Given the description of an element on the screen output the (x, y) to click on. 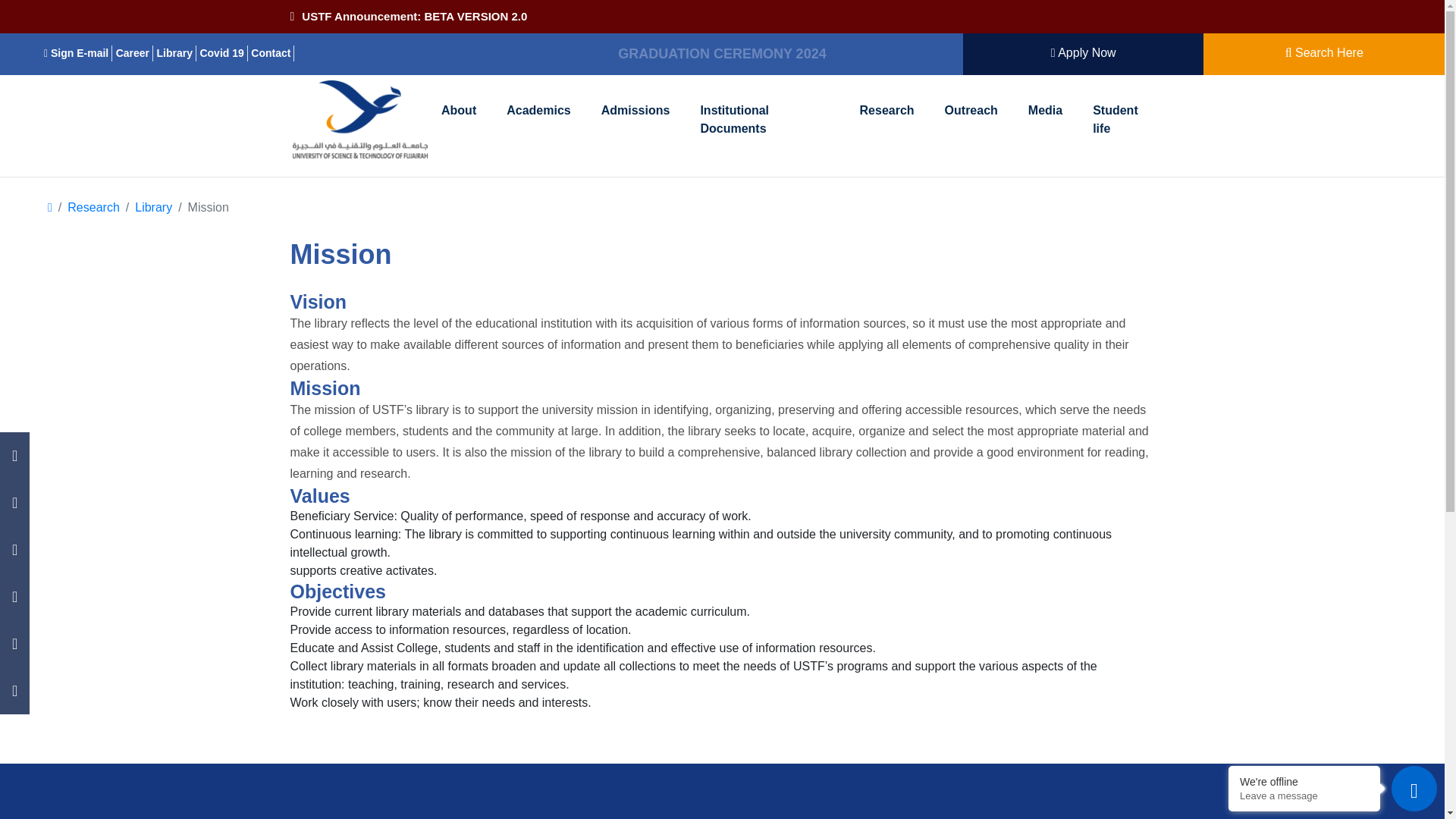
We're offline (1304, 781)
Admissions (635, 110)
Leave a message (1304, 795)
Search Here (1323, 53)
Library (176, 53)
GRADUATION CEREMONY 2024 (721, 54)
Contact (272, 53)
Career (134, 53)
Sign E-mail (77, 53)
Covid 19 (223, 53)
Apply Now (1083, 53)
Academics (538, 110)
